Given the description of an element on the screen output the (x, y) to click on. 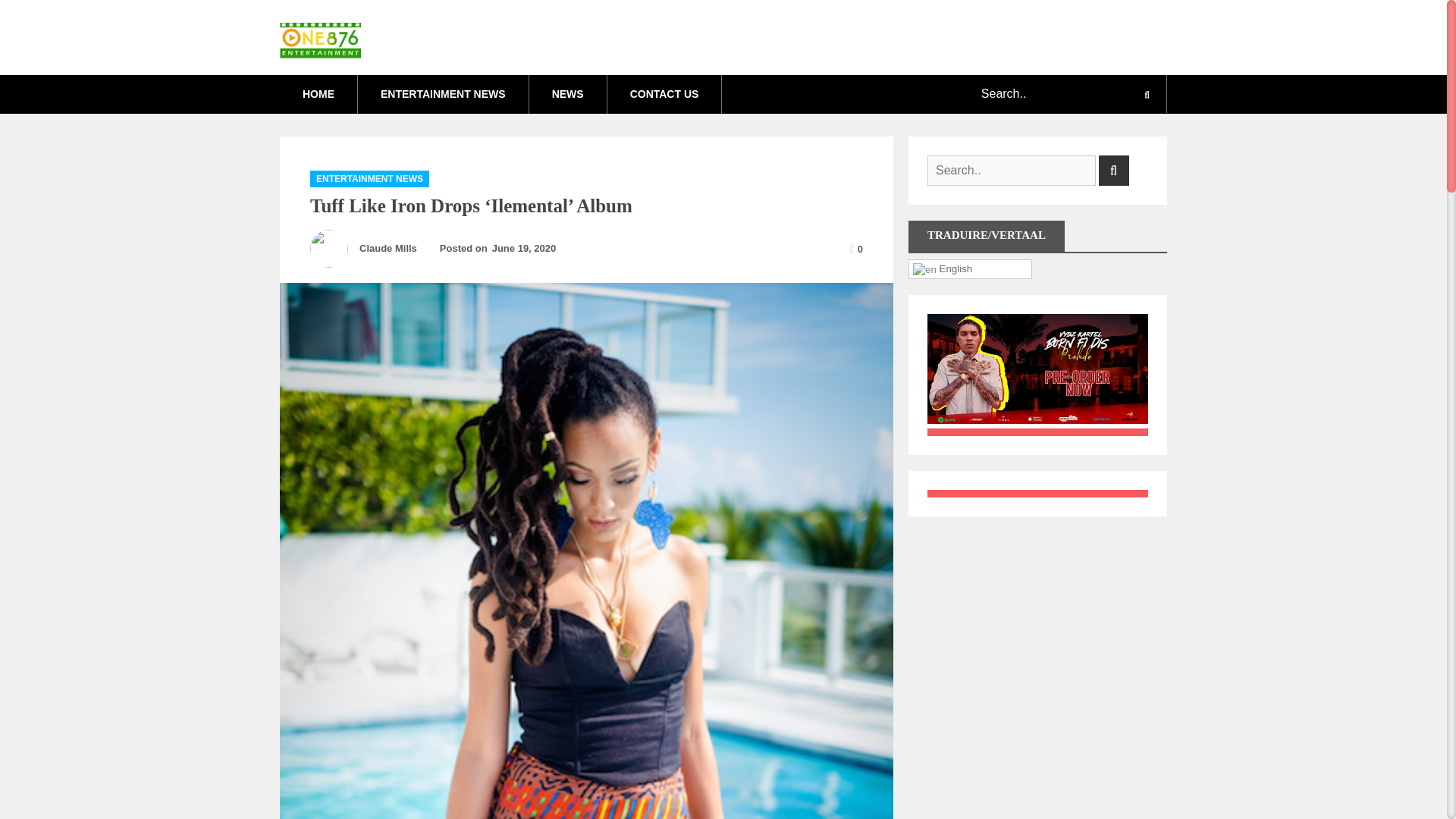
ENTERTAINMENT NEWS (443, 94)
One876Entertainment.com (512, 28)
NEWS (568, 94)
HOME (317, 94)
CONTACT US (664, 94)
June 19, 2020 (528, 248)
ENTERTAINMENT NEWS (369, 178)
Claude Mills (387, 247)
